Given the description of an element on the screen output the (x, y) to click on. 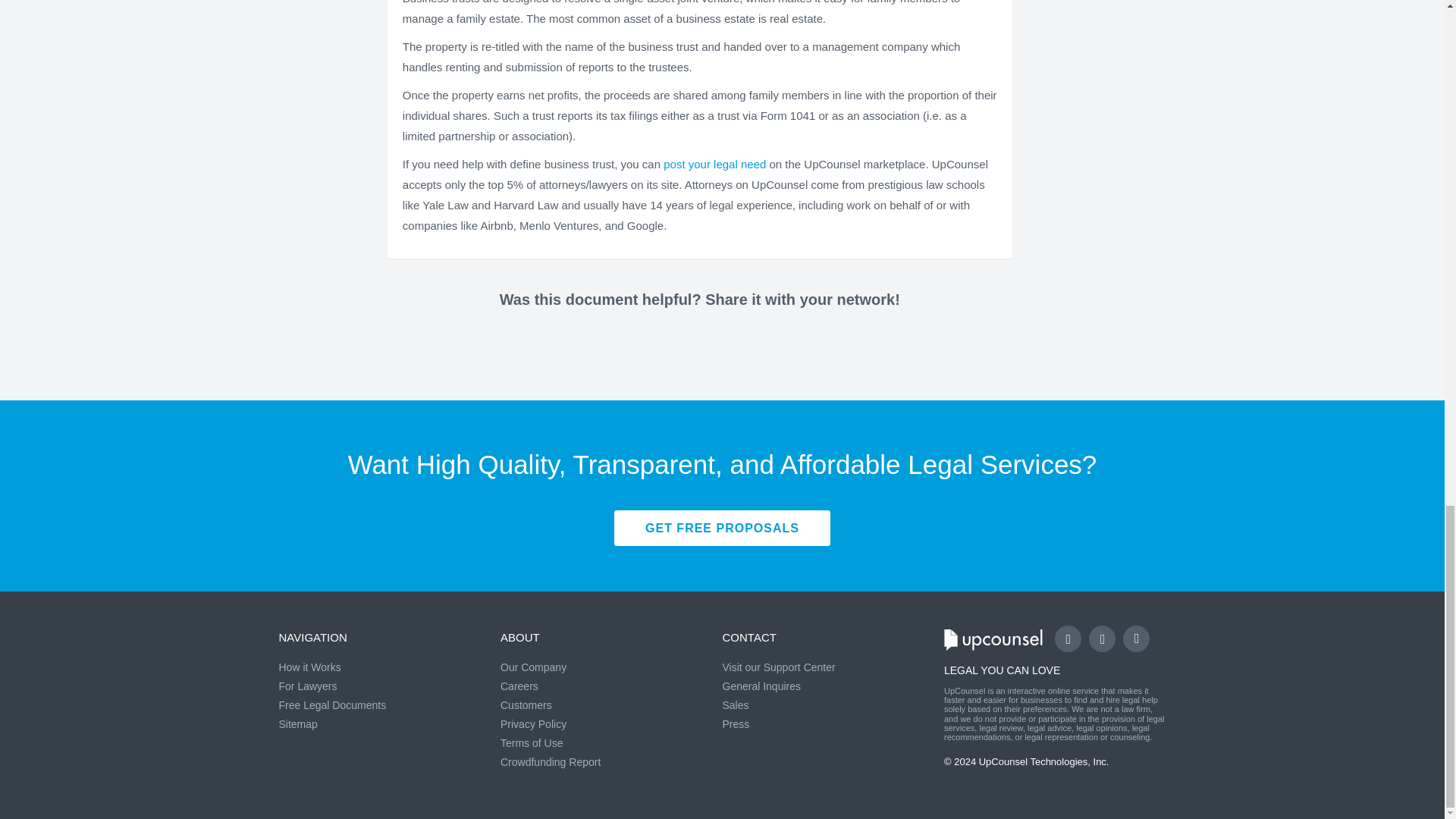
Connect with us on LinkedIn (1136, 638)
Like us on Facebook (1067, 638)
Follow us on Twitter (1102, 638)
post your legal need  (715, 164)
